Given the description of an element on the screen output the (x, y) to click on. 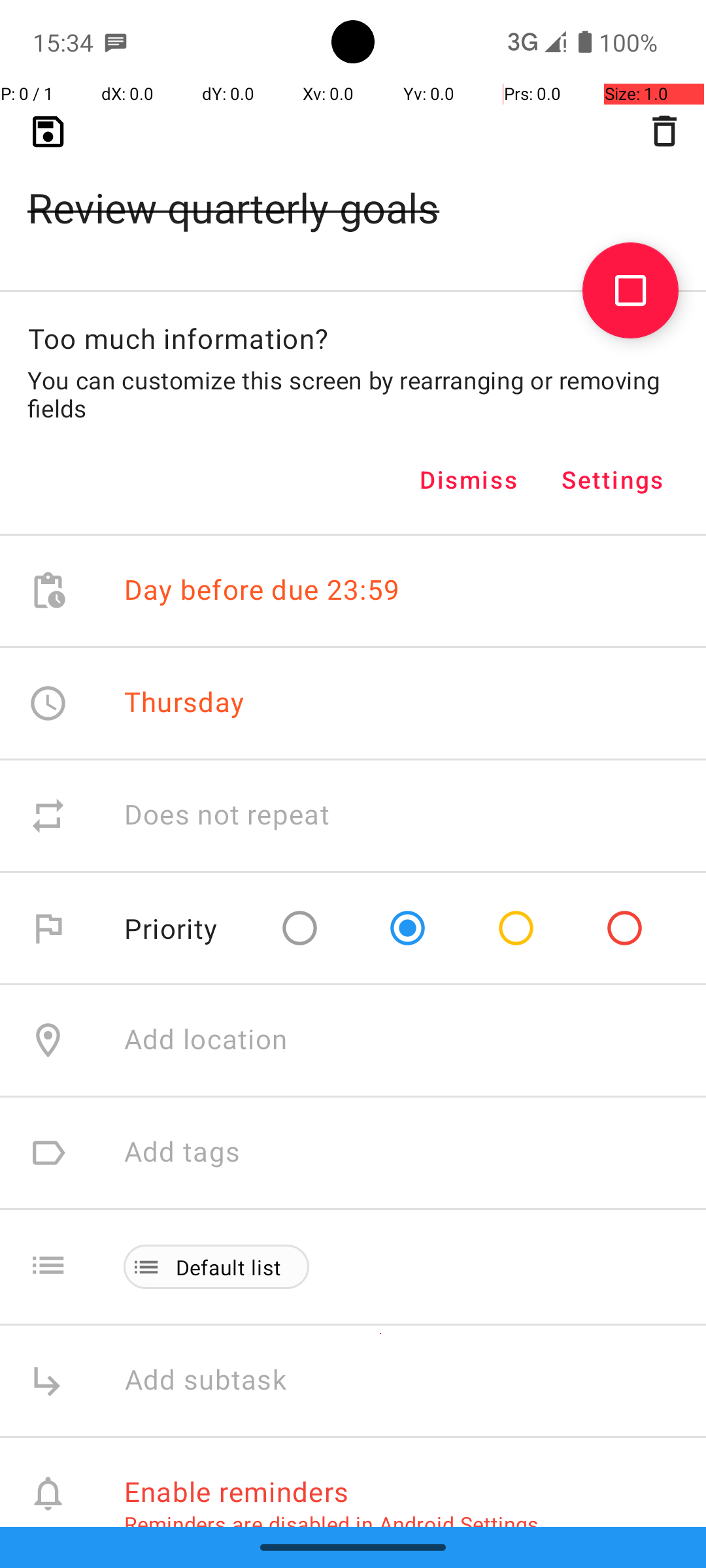
Review quarterly goals Element type: android.widget.EditText (353, 186)
Delete task Element type: android.widget.Button (664, 131)
Too much information? Element type: android.widget.TextView (178, 337)
You can customize this screen by rearranging or removing fields Element type: android.widget.TextView (352, 393)
Dismiss Element type: android.widget.TextView (468, 479)
Default list Element type: android.widget.TextView (228, 1267)
Day before due 23:59 Element type: android.widget.TextView (261, 590)
Does not repeat Element type: android.widget.TextView (226, 815)
Add location Element type: android.widget.TextView (205, 1040)
Add tags Element type: android.widget.TextView (182, 1152)
Add subtask Element type: android.widget.TextView (219, 1380)
Enable reminders Element type: android.widget.TextView (236, 1490)
Reminders are disabled in Android Settings Element type: android.widget.TextView (331, 1523)
